Given the description of an element on the screen output the (x, y) to click on. 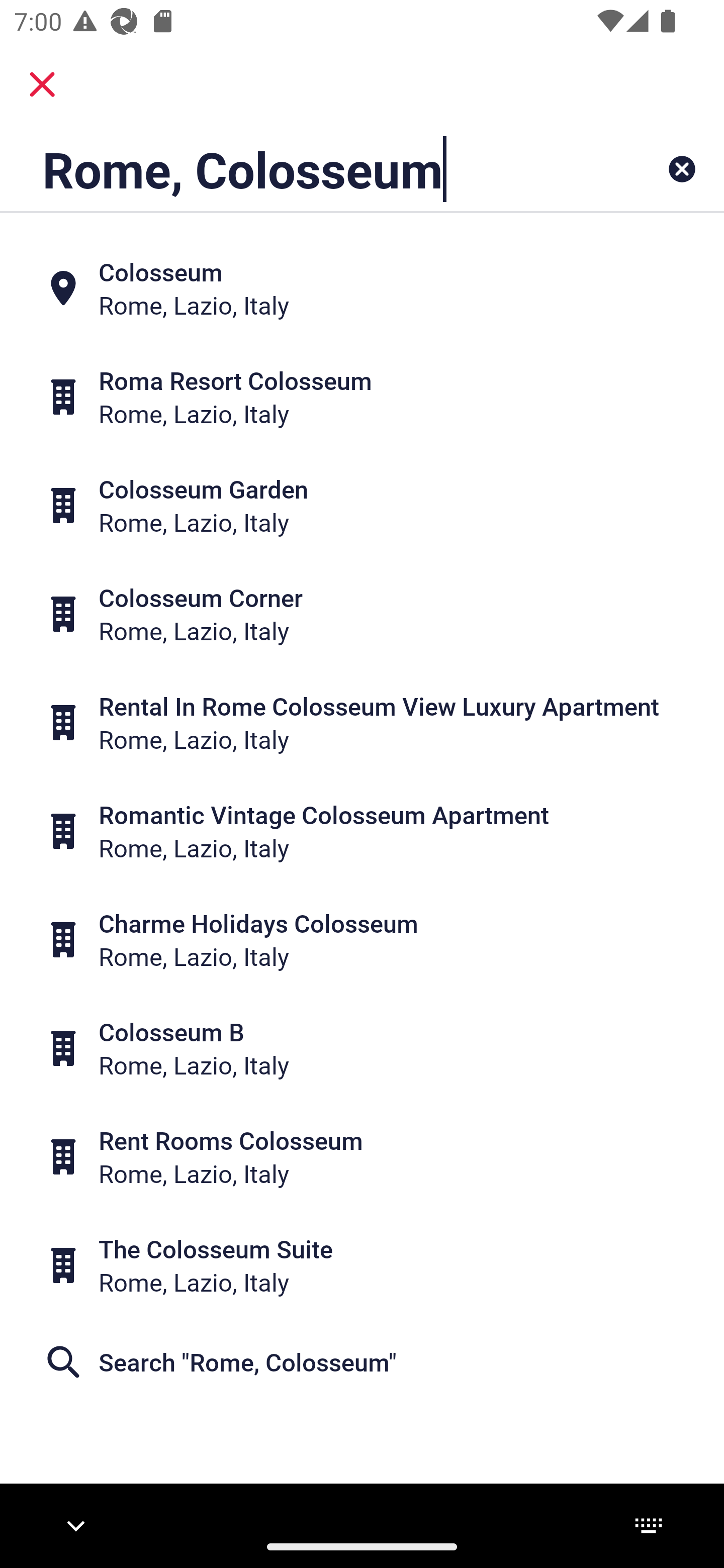
close. (42, 84)
Clear (681, 169)
Rome, Colosseum (298, 169)
Colosseum Rome, Lazio, Italy (362, 288)
Roma Resort Colosseum Rome, Lazio, Italy (362, 397)
Colosseum Garden Rome, Lazio, Italy (362, 505)
Colosseum Corner Rome, Lazio, Italy (362, 613)
Charme Holidays Colosseum Rome, Lazio, Italy (362, 939)
Colosseum B Rome, Lazio, Italy (362, 1048)
Rent Rooms Colosseum Rome, Lazio, Italy (362, 1156)
The Colosseum Suite Rome, Lazio, Italy (362, 1265)
Search "Rome, Colosseum" (362, 1362)
